Given the description of an element on the screen output the (x, y) to click on. 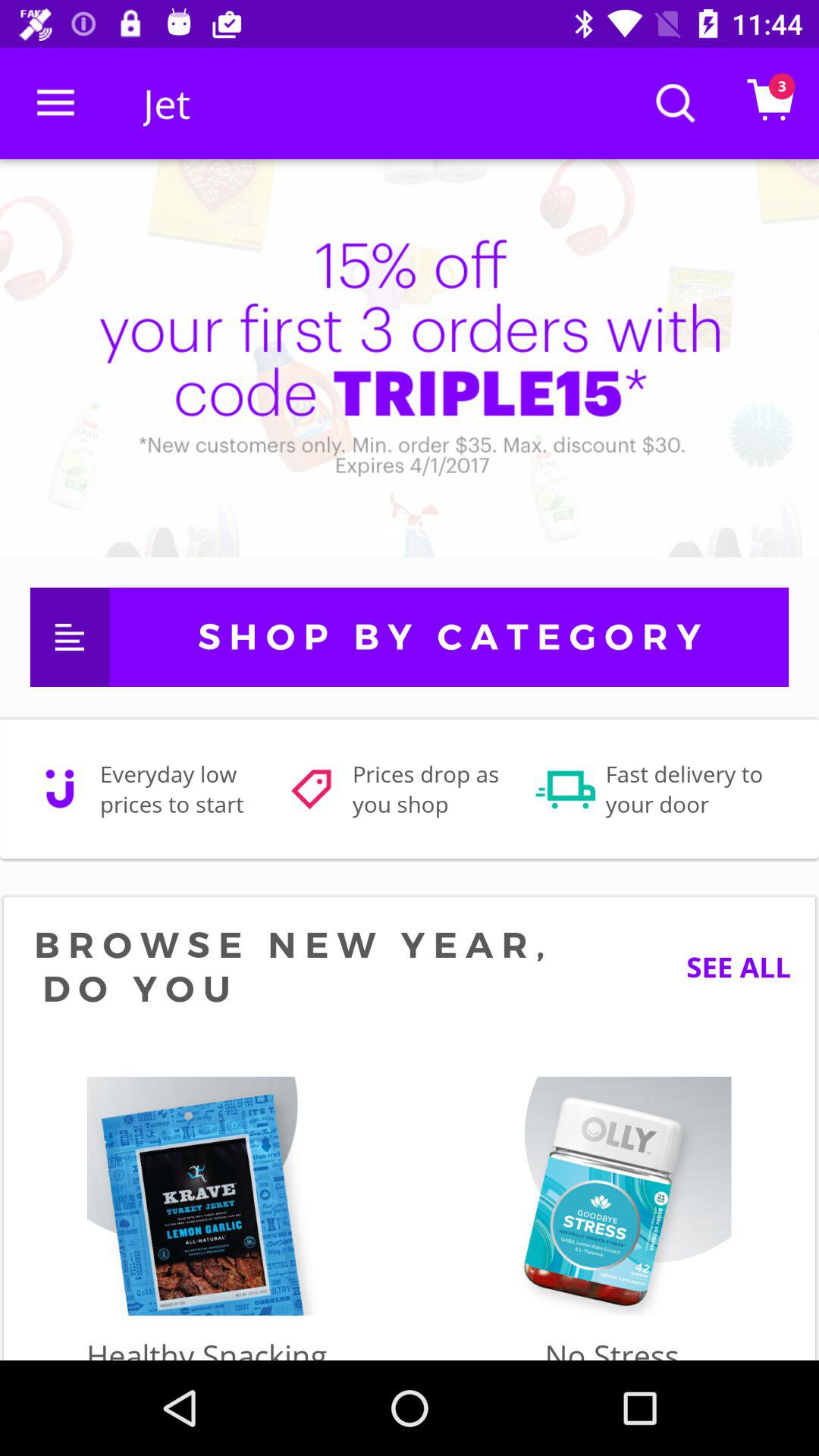
choose the icon to the left of the jet icon (55, 103)
